Given the description of an element on the screen output the (x, y) to click on. 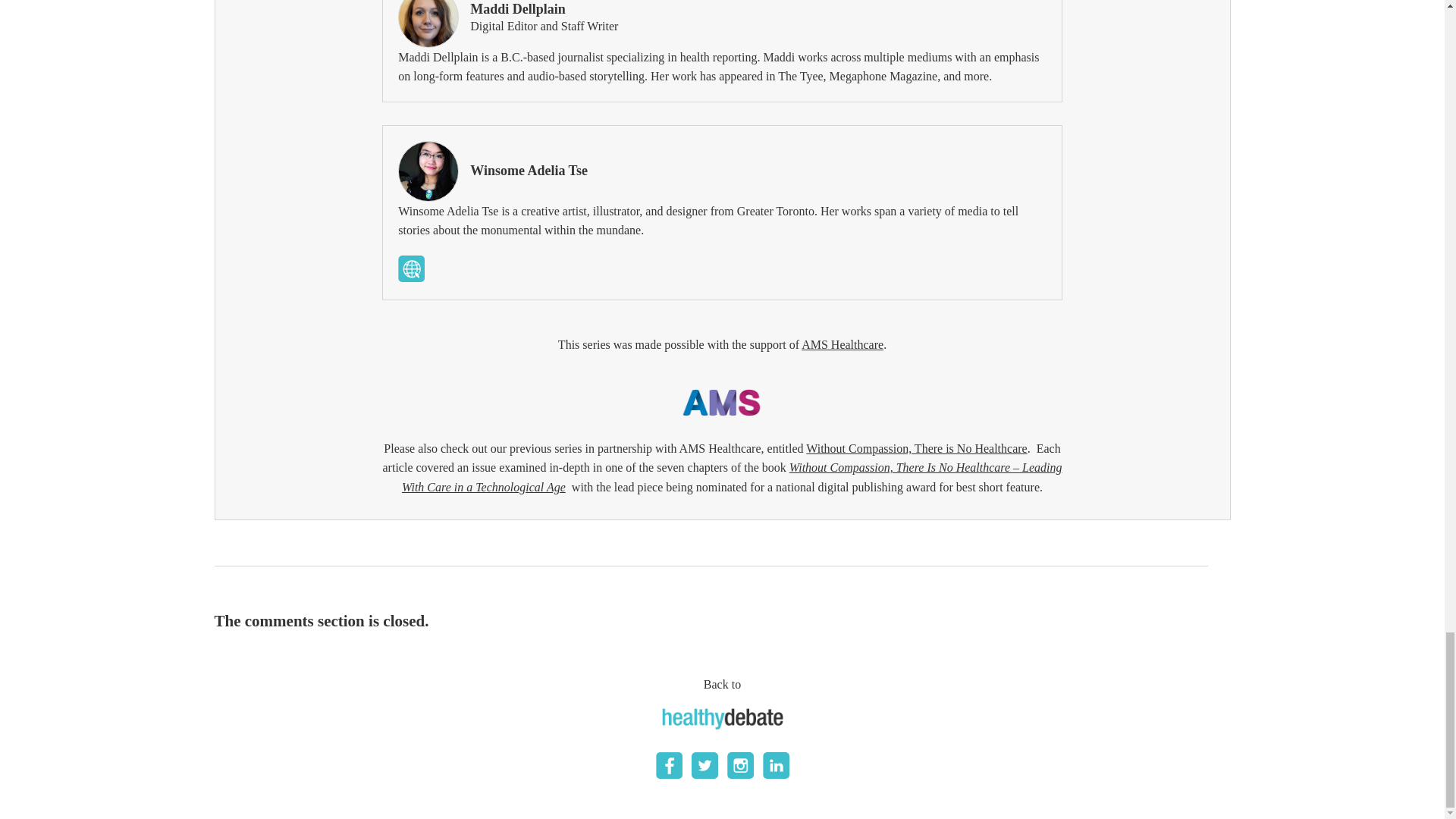
AMS Healthcare (842, 344)
Without Compassion, There is No Healthcare (916, 448)
Healthy Debate (722, 718)
